Given the description of an element on the screen output the (x, y) to click on. 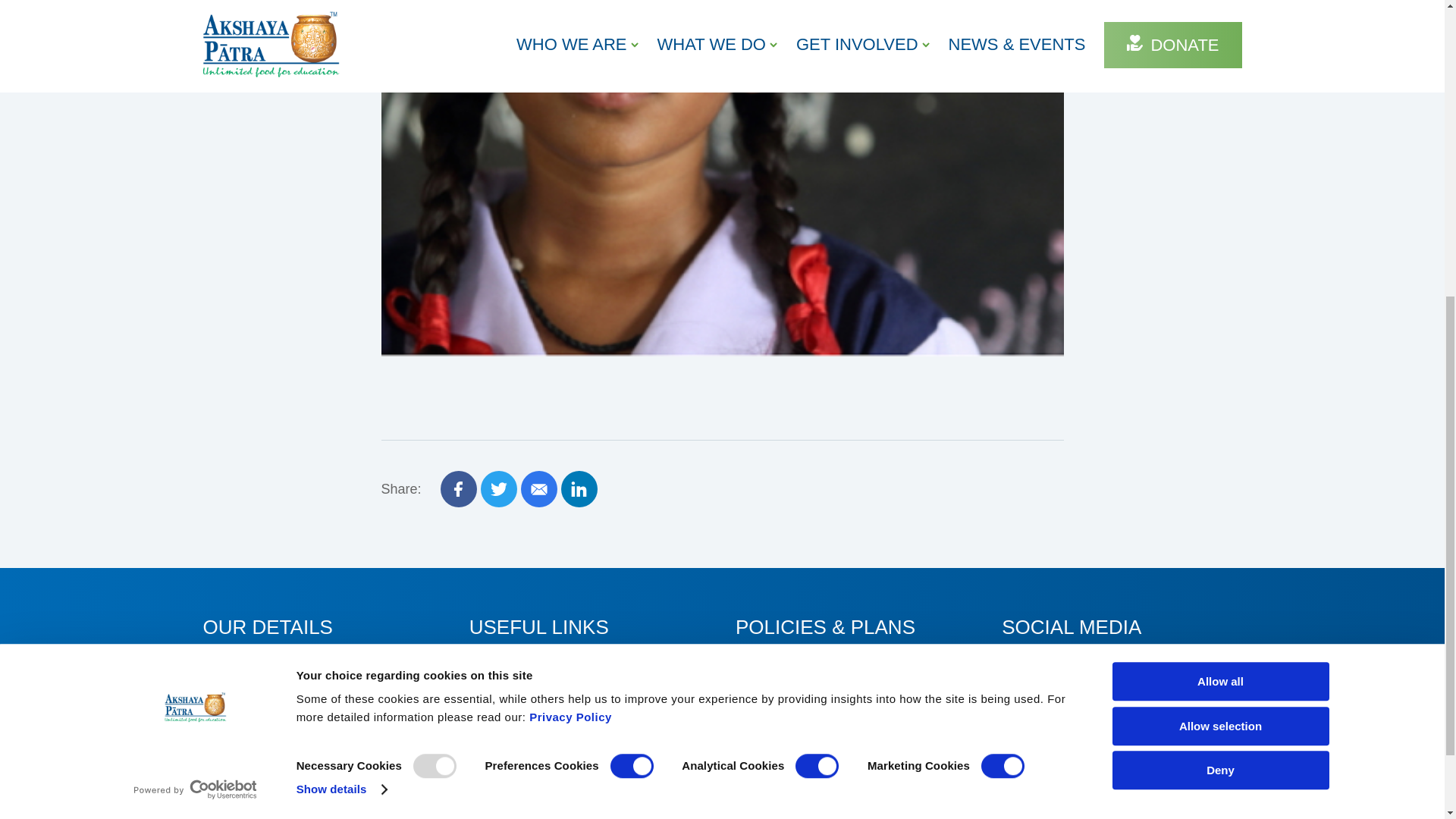
Show details (341, 278)
Privacy Policy (570, 205)
